Given the description of an element on the screen output the (x, y) to click on. 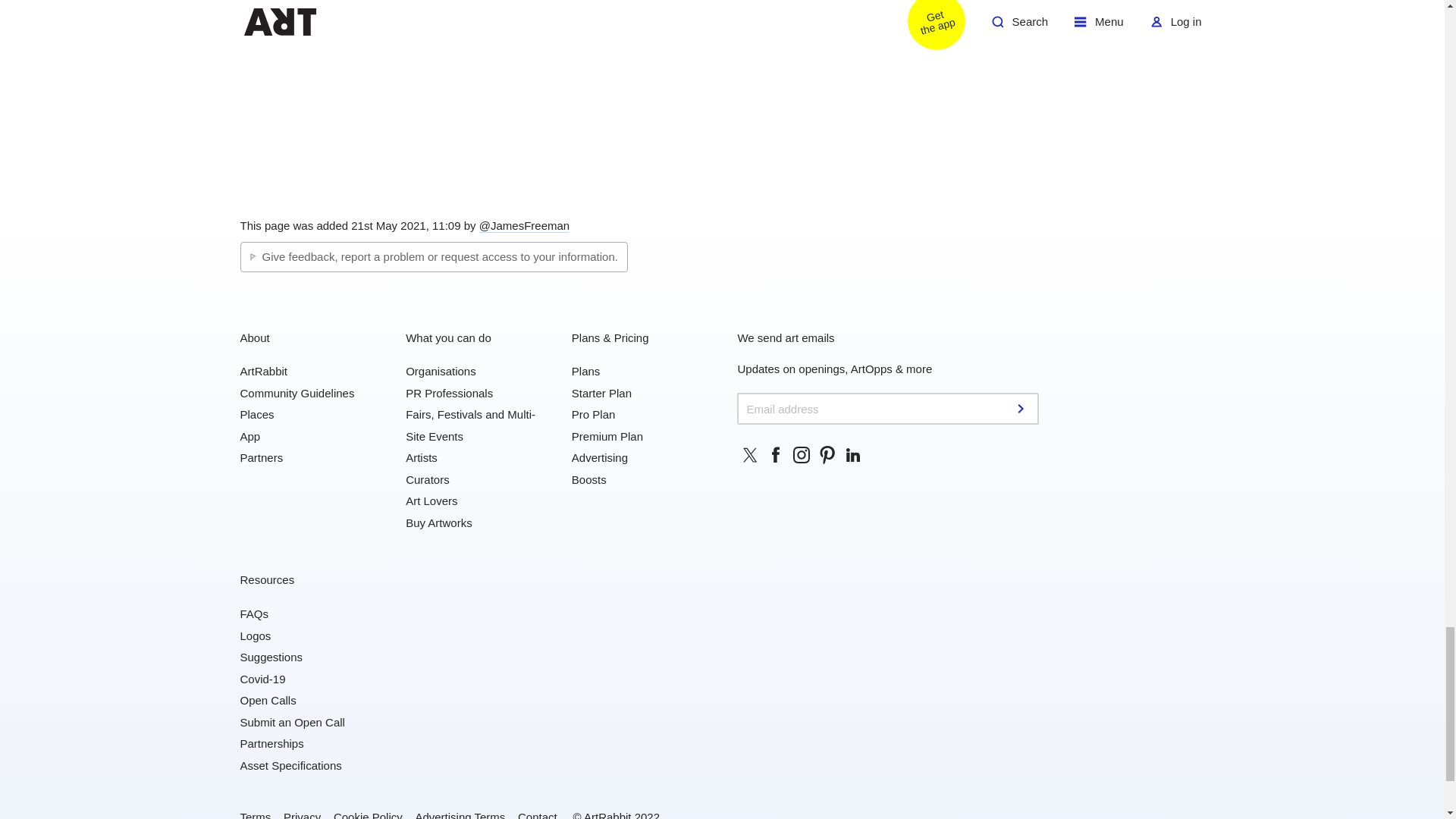
submit (1021, 408)
